Given the description of an element on the screen output the (x, y) to click on. 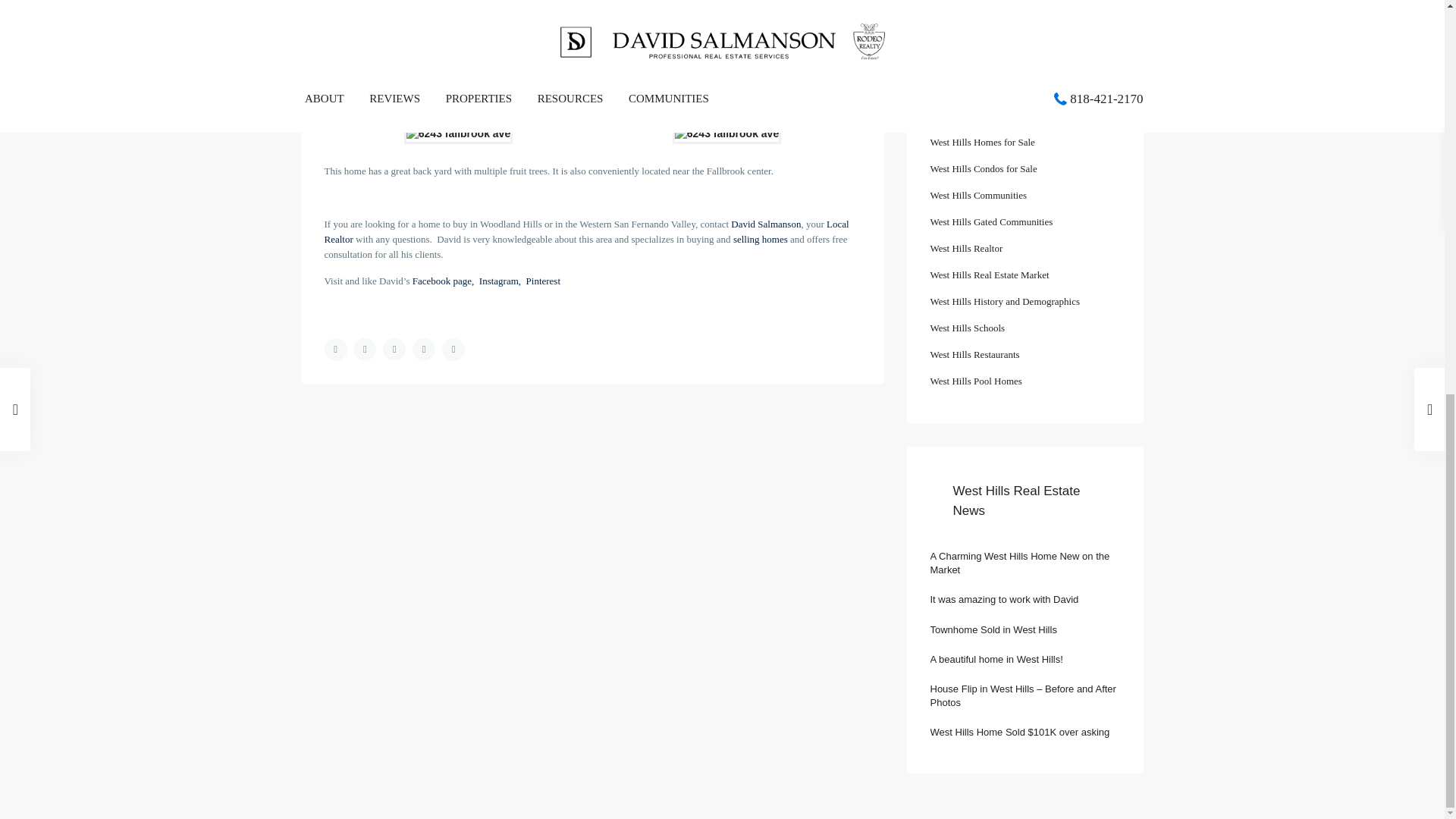
Realtor Websites (942, 35)
